Given the description of an element on the screen output the (x, y) to click on. 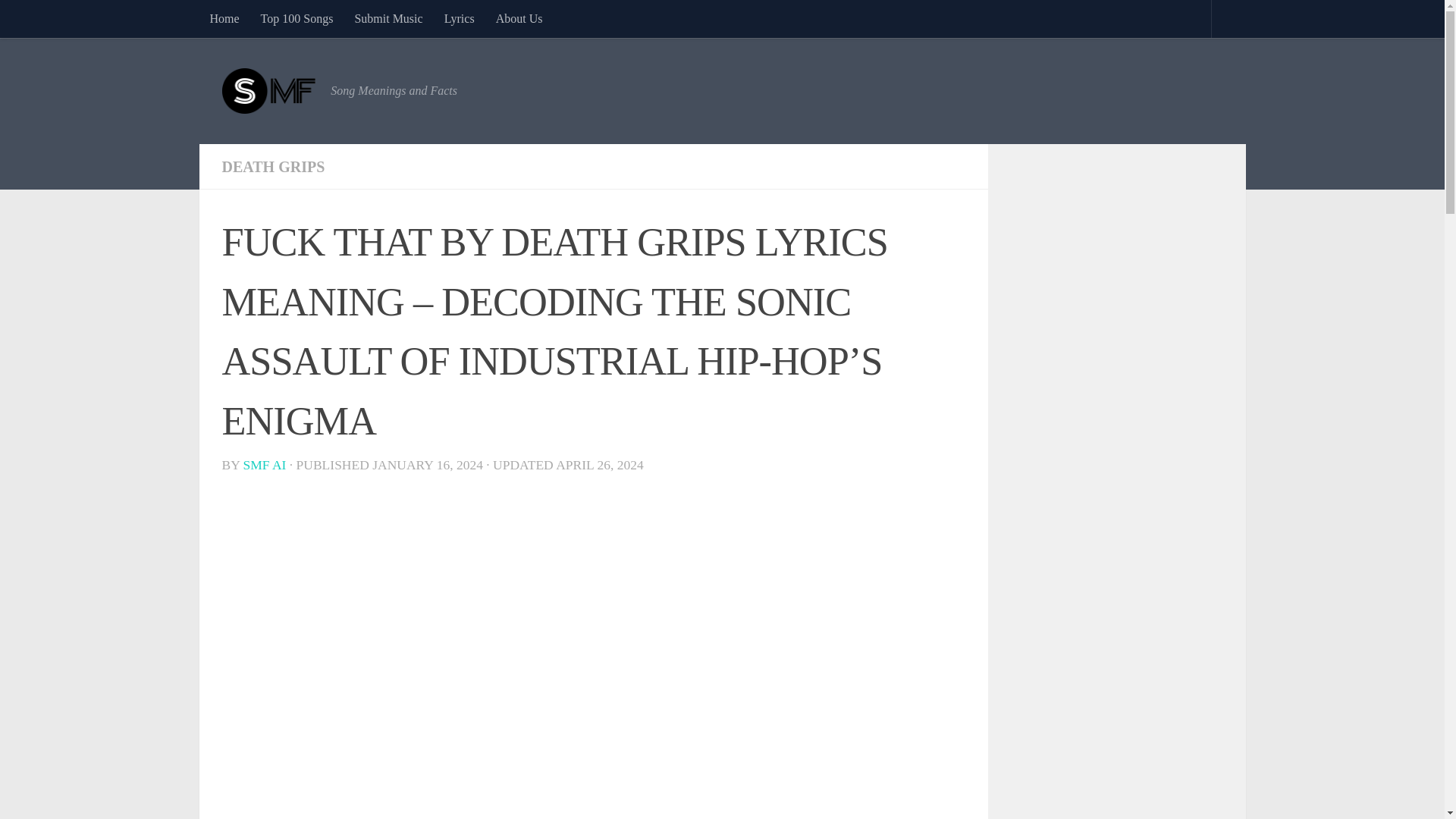
Submit Music (387, 18)
Skip to content (59, 20)
Home (223, 18)
SMF AI (264, 464)
Lyrics (458, 18)
Posts by SMF AI (264, 464)
About Us (518, 18)
Top 100 Songs (296, 18)
DEATH GRIPS (272, 166)
